Given the description of an element on the screen output the (x, y) to click on. 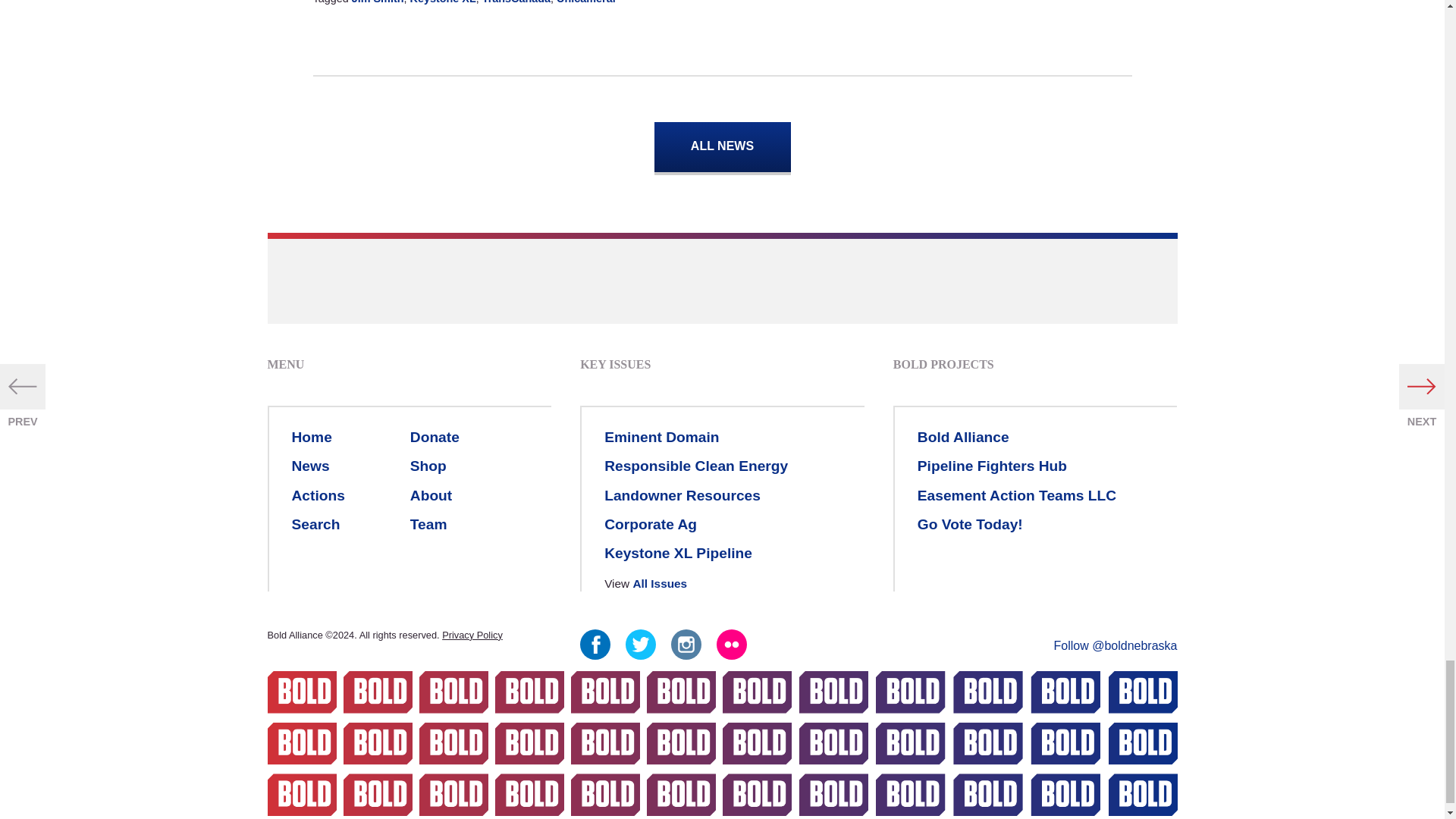
Learn More (661, 437)
